Given the description of an element on the screen output the (x, y) to click on. 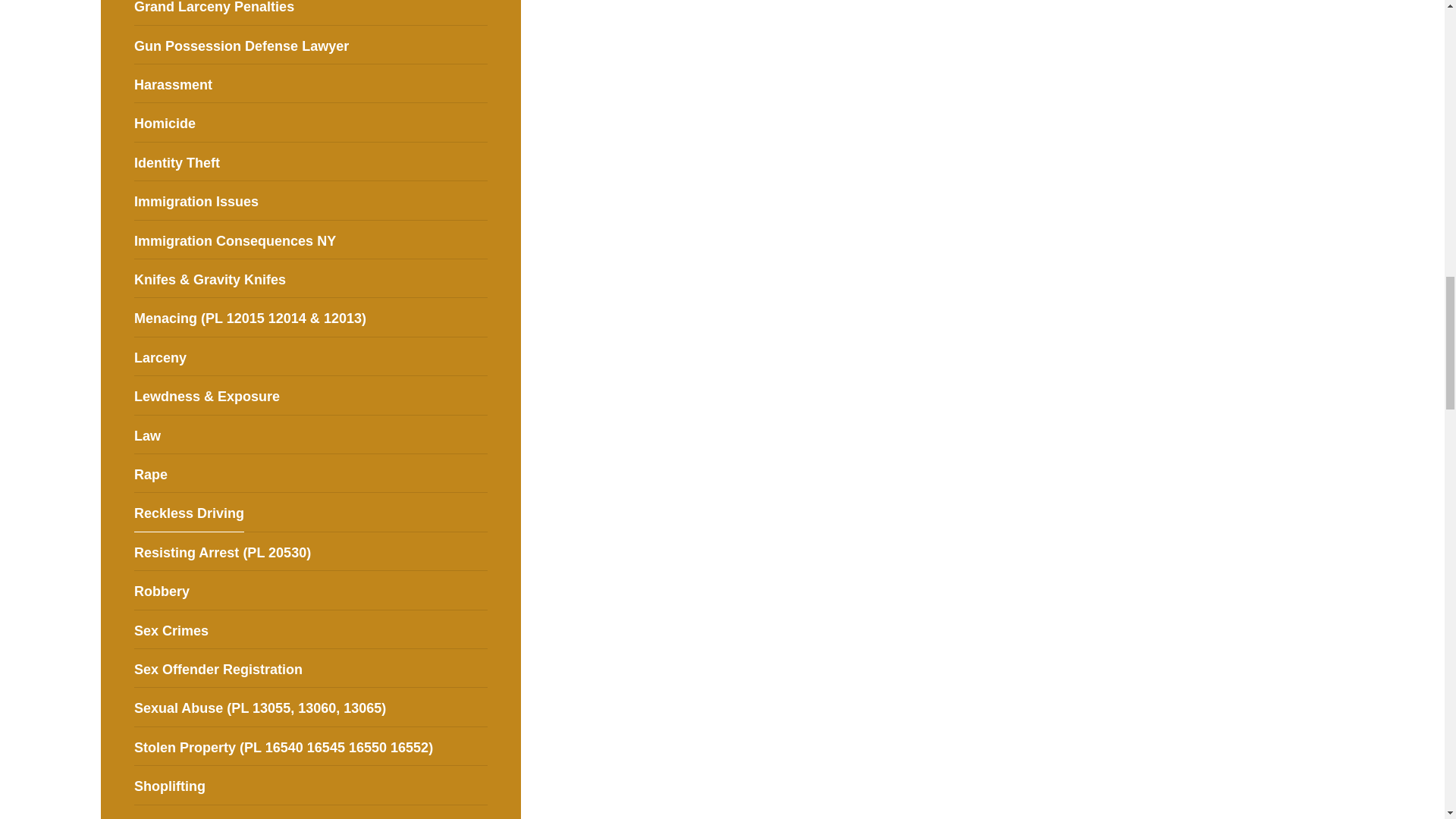
Open child menu of Law (480, 434)
Open child menu of Shoplifting (480, 784)
Open child menu of Gun Possession Defense Lawyer (480, 44)
Open child menu of Immigration Issues (480, 200)
Open child menu of Harassment (480, 83)
